Given the description of an element on the screen output the (x, y) to click on. 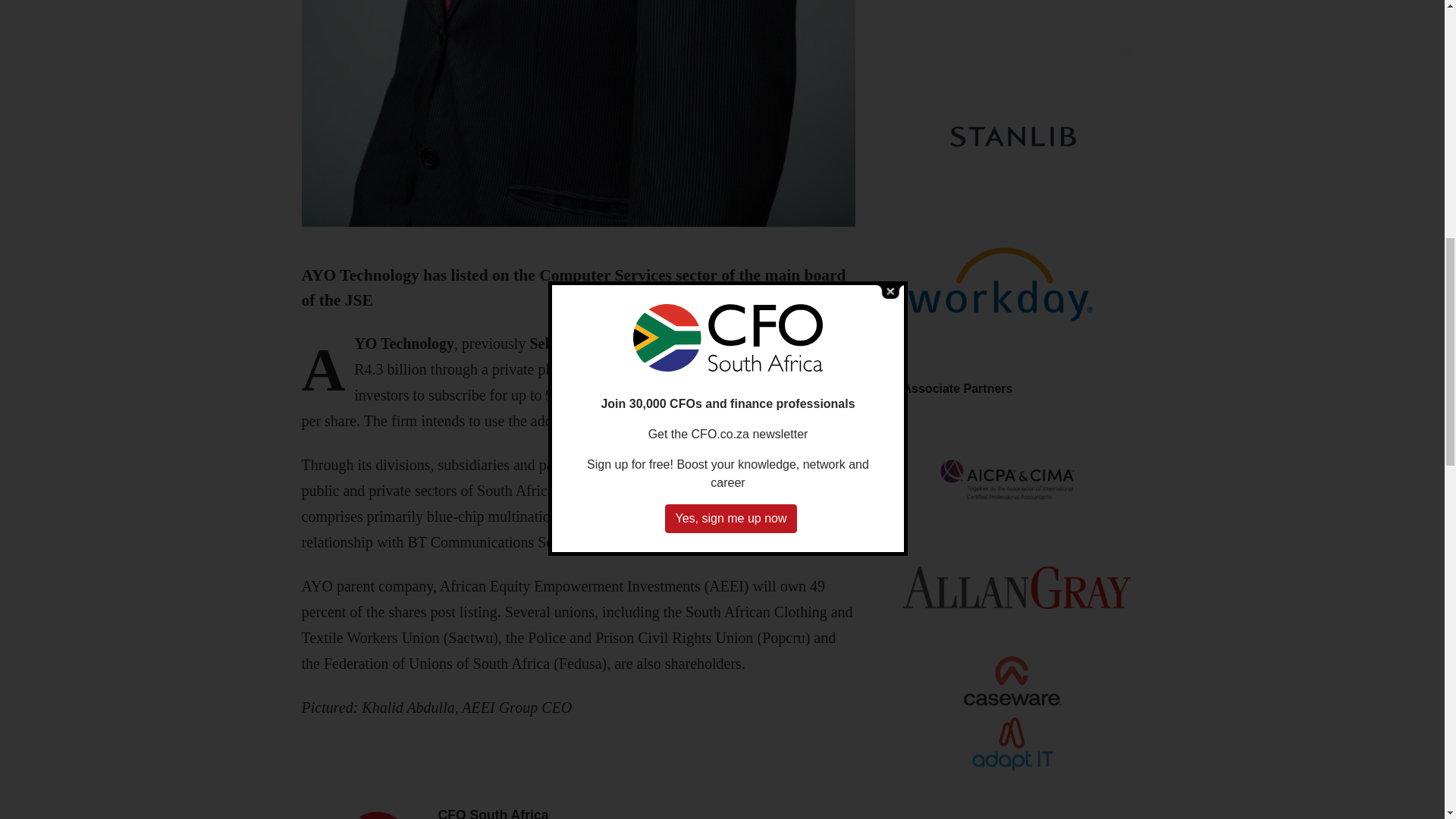
CFO South Africa (493, 813)
CFO South Africa (493, 813)
